Given the description of an element on the screen output the (x, y) to click on. 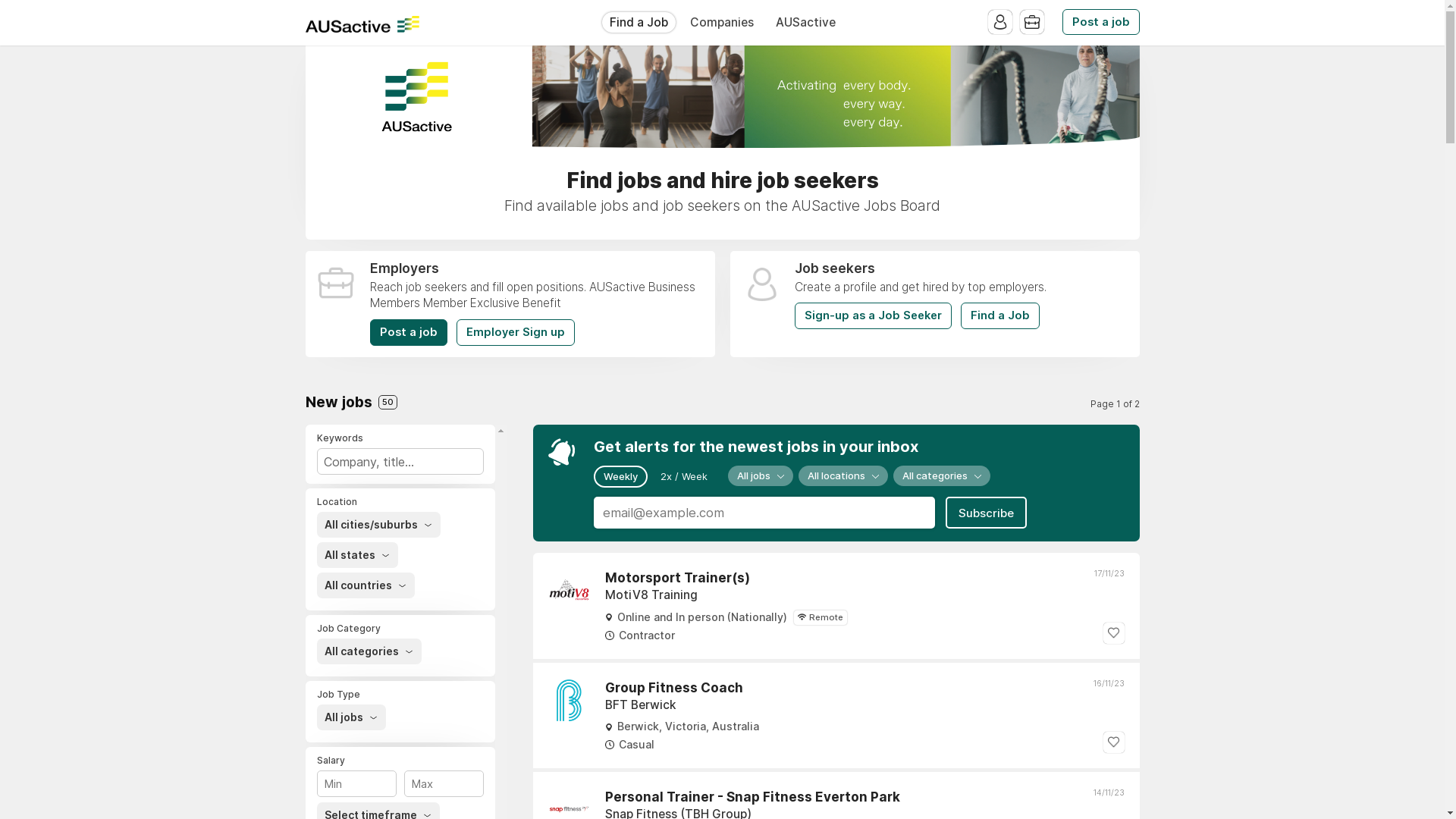
AUSactive Element type: hover (361, 24)
Find a Job Element type: text (638, 22)
Post a job Element type: text (408, 332)
Employer Sign up Element type: text (515, 332)
Post a job Element type: text (1100, 22)
AUSactive Element type: text (804, 22)
Find a Job Element type: text (999, 315)
Companies Element type: text (721, 22)
Save job Element type: text (1112, 742)
Sign-up as a Job Seeker Element type: text (872, 315)
Save job Element type: text (1112, 632)
Subscribe Element type: text (985, 512)
